Given the description of an element on the screen output the (x, y) to click on. 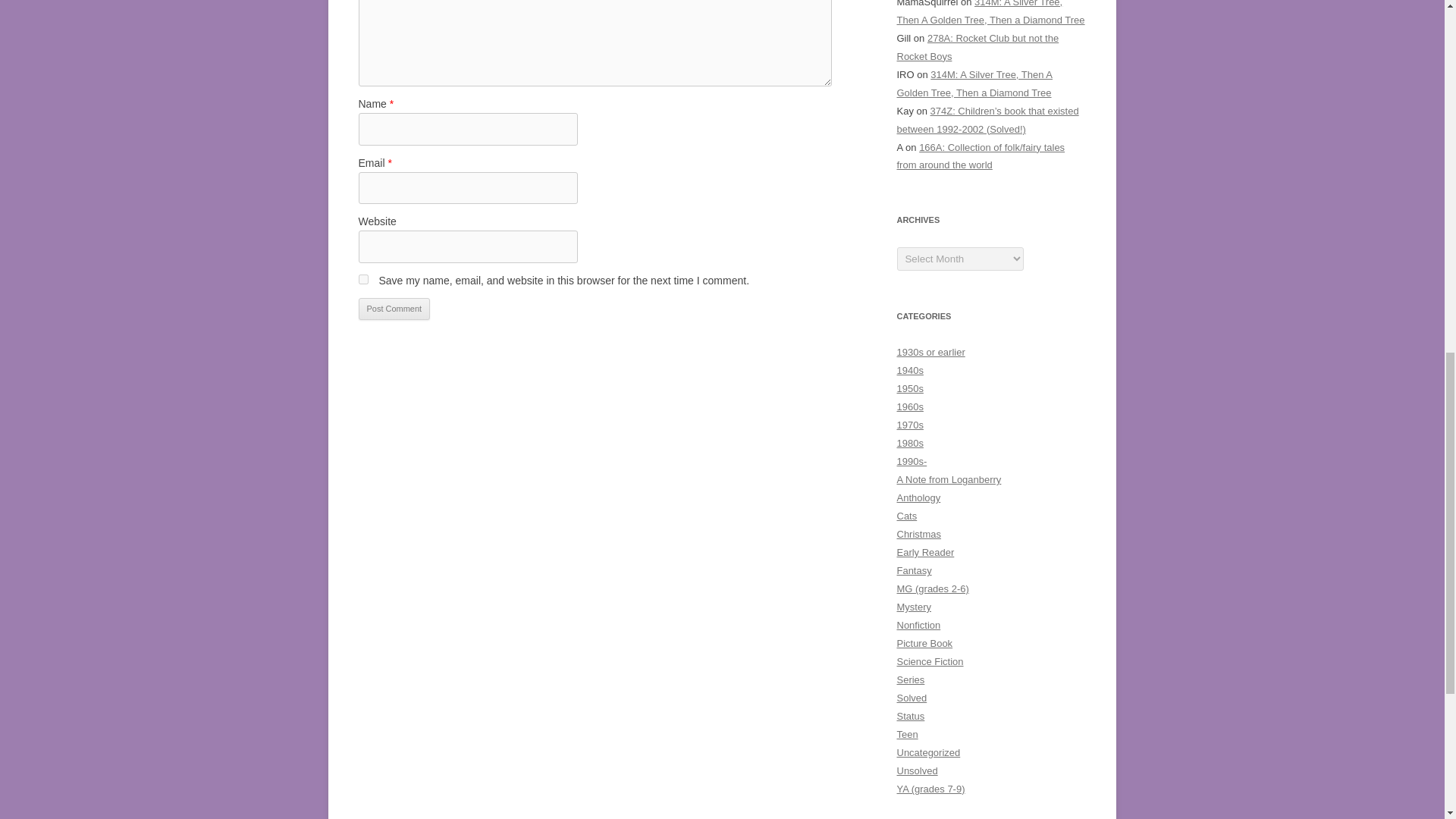
278A: Rocket Club but not the Rocket Boys (977, 47)
1940s (909, 369)
314M: A Silver Tree, Then A Golden Tree, Then a Diamond Tree (990, 12)
1950s (909, 388)
1930s or earlier (929, 351)
Post Comment (393, 309)
314M: A Silver Tree, Then A Golden Tree, Then a Diamond Tree (973, 83)
Post Comment (393, 309)
yes (363, 279)
